Given the description of an element on the screen output the (x, y) to click on. 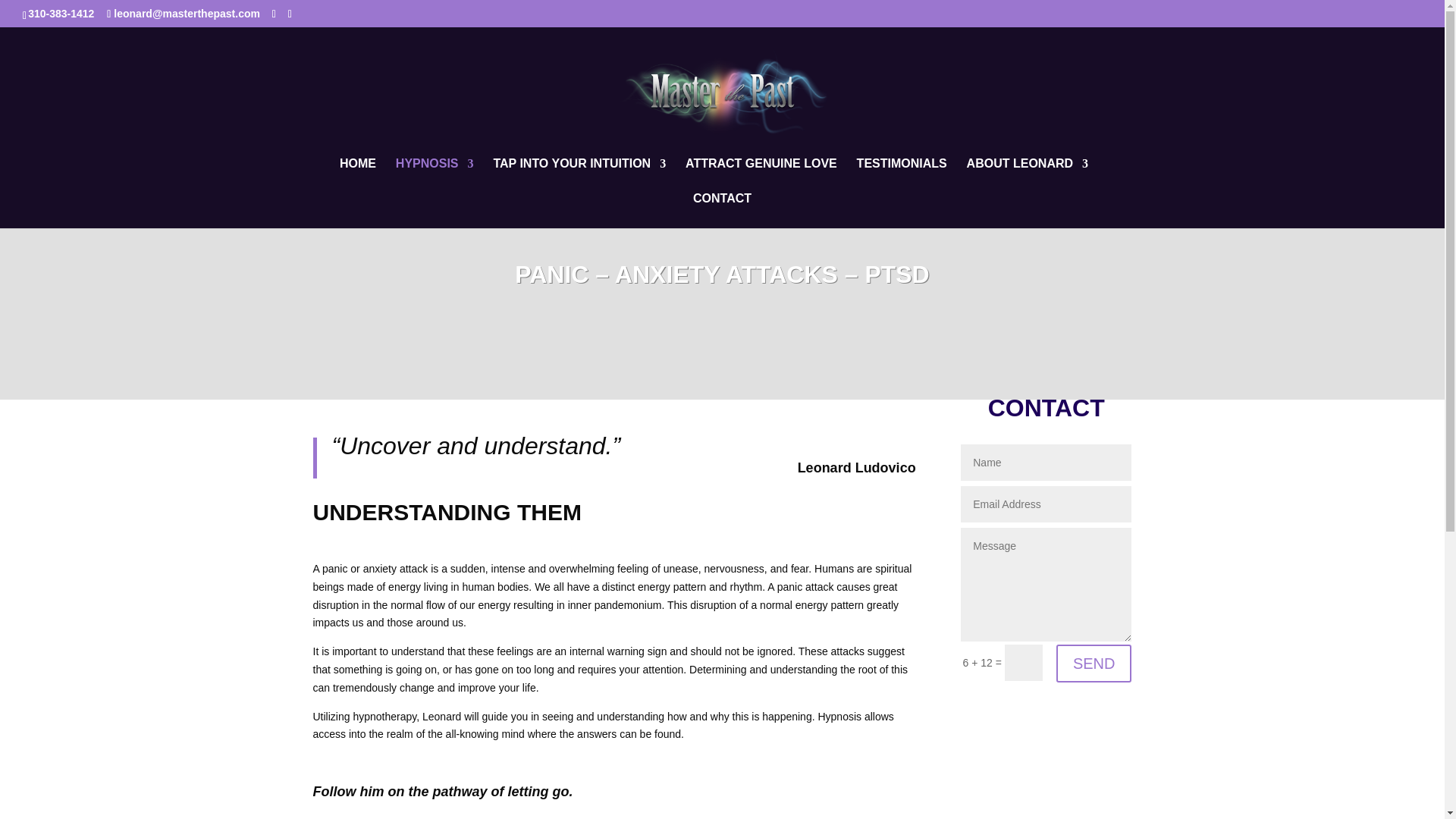
TAP INTO YOUR INTUITION (579, 175)
CONTACT (722, 210)
HOME (357, 175)
TESTIMONIALS (902, 175)
ATTRACT GENUINE LOVE (761, 175)
ABOUT LEONARD (1026, 175)
SEND (1094, 663)
HYPNOSIS (435, 175)
